Given the description of an element on the screen output the (x, y) to click on. 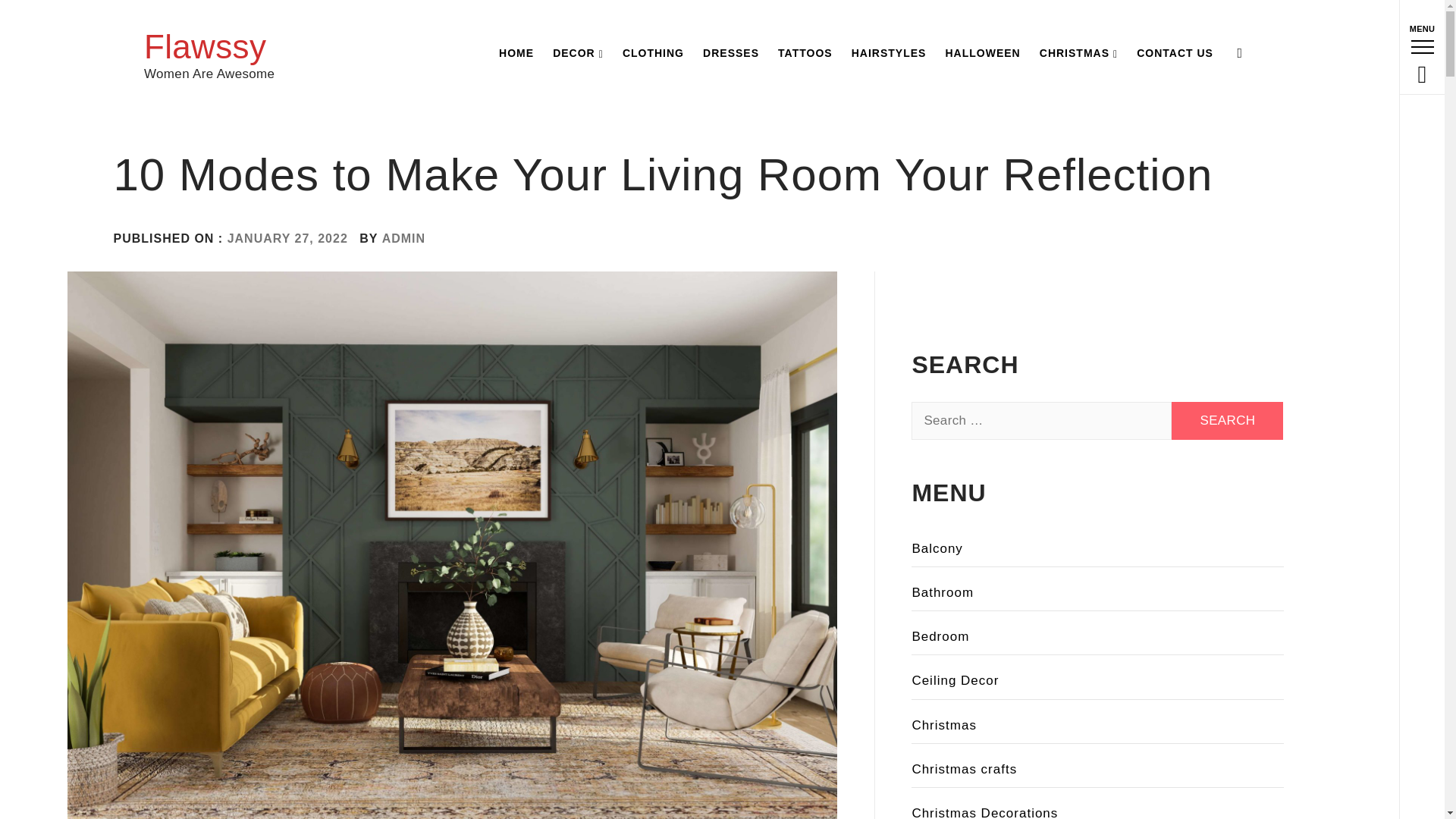
CONTACT US (1175, 53)
Search (1227, 420)
DRESSES (731, 53)
Search (1227, 420)
DECOR (577, 53)
HOME (516, 53)
Search (646, 37)
CHRISTMAS (1078, 53)
CLOTHING (652, 53)
HAIRSTYLES (889, 53)
JANUARY 27, 2022 (287, 237)
TATTOOS (805, 53)
HALLOWEEN (982, 53)
Flawssy (205, 46)
